Given the description of an element on the screen output the (x, y) to click on. 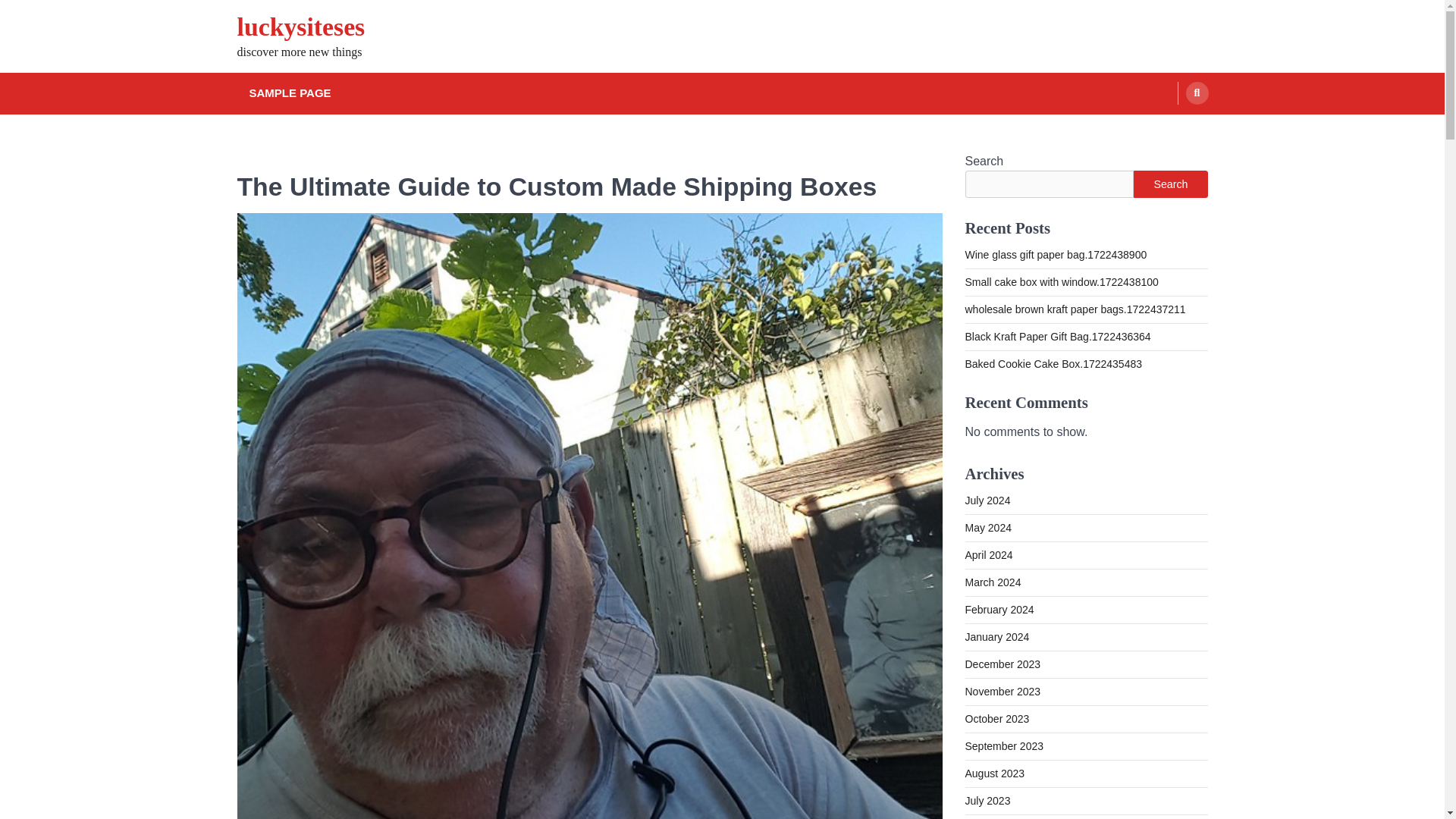
October 2023 (996, 718)
February 2024 (998, 609)
August 2023 (994, 773)
luckysiteses (300, 26)
November 2023 (1002, 691)
Search (1197, 92)
July 2023 (986, 800)
December 2023 (1002, 664)
May 2024 (986, 527)
March 2024 (991, 582)
January 2024 (996, 636)
Wine glass gift paper bag.1722438900 (1055, 254)
Search (1170, 184)
April 2024 (987, 554)
Baked Cookie Cake Box.1722435483 (1052, 363)
